Given the description of an element on the screen output the (x, y) to click on. 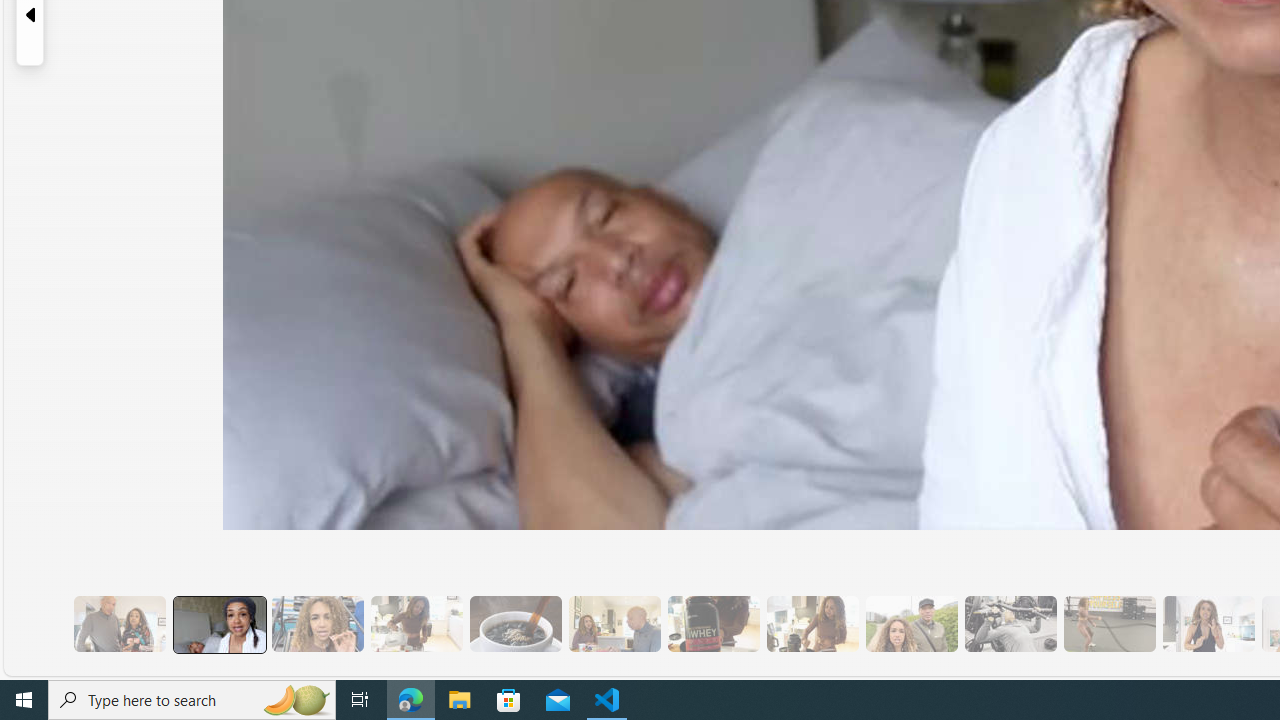
5 She Eats Less Than Her Husband (614, 624)
6 Since Eating More Protein Her Training Has Improved (713, 624)
7 They Don't Skip Meals (811, 624)
7 They Don't Skip Meals (811, 624)
8 Be Mindful of Coffee (514, 624)
2 They Use Protein Powder for Flavor (317, 624)
8 Be Mindful of Coffee (514, 624)
10 Then, They Do HIIT Cardio (1108, 624)
